Given the description of an element on the screen output the (x, y) to click on. 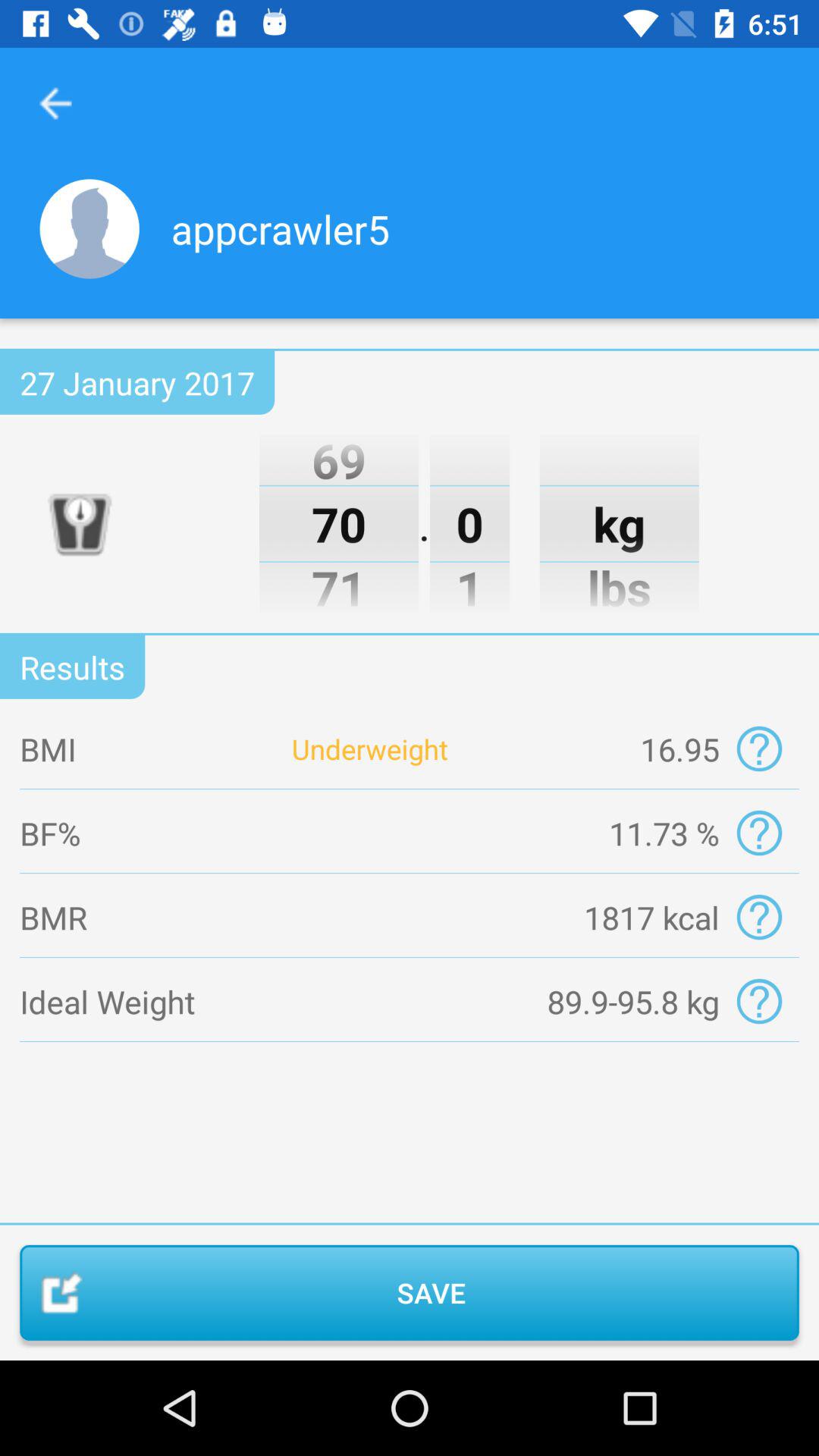
bf 11.73 (759, 833)
